Given the description of an element on the screen output the (x, y) to click on. 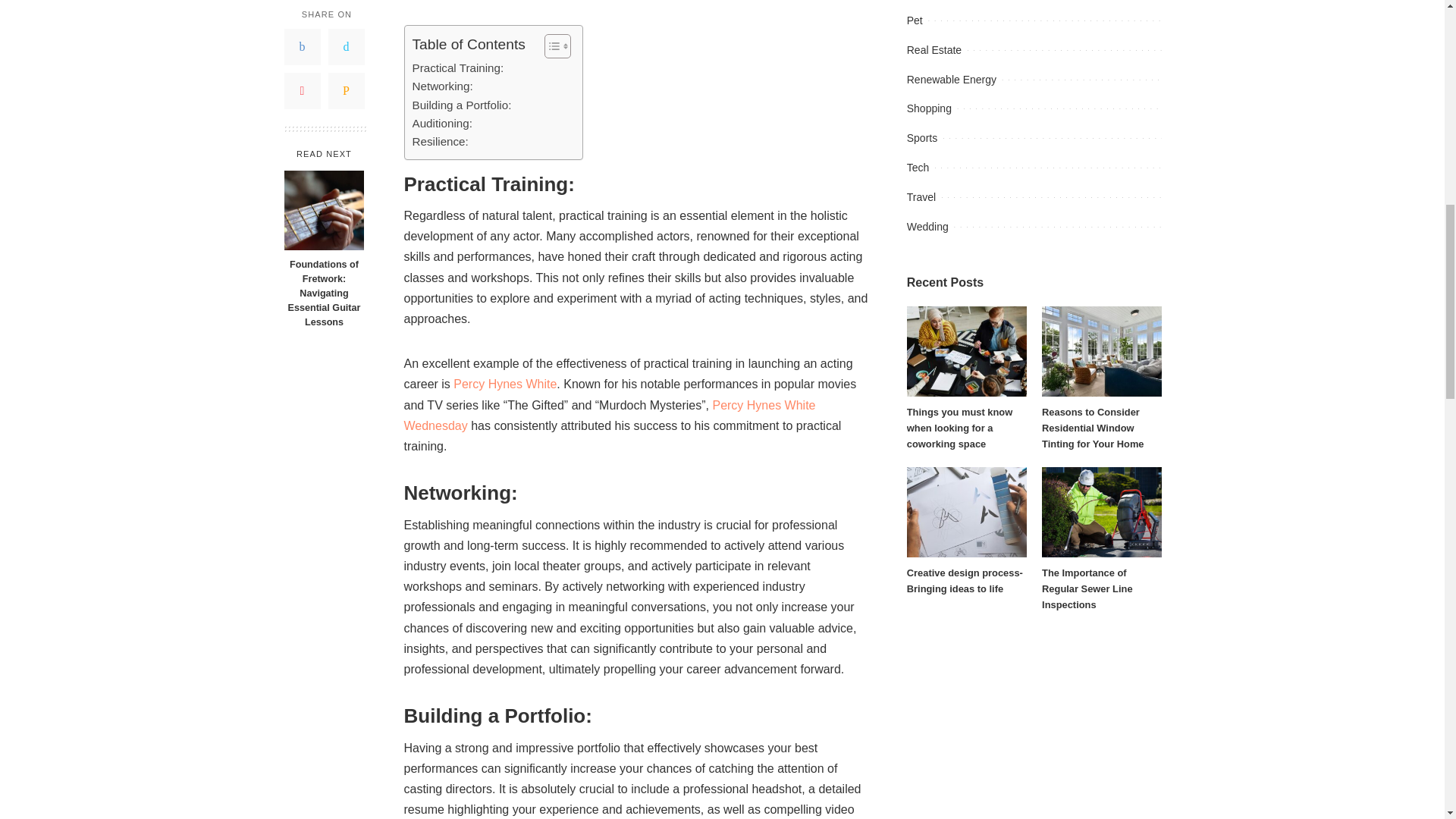
Resilience: (440, 141)
Practical Training: (457, 67)
Practical Training: (457, 67)
Foundations of Fretwork: Navigating Essential Guitar Lessons (323, 142)
Building a Portfolio: (462, 105)
Auditioning: (441, 123)
Foundations of Fretwork: Navigating Essential Guitar Lessons (323, 59)
Building a Portfolio: (462, 105)
Resilience: (440, 141)
Networking: (442, 85)
